Given the description of an element on the screen output the (x, y) to click on. 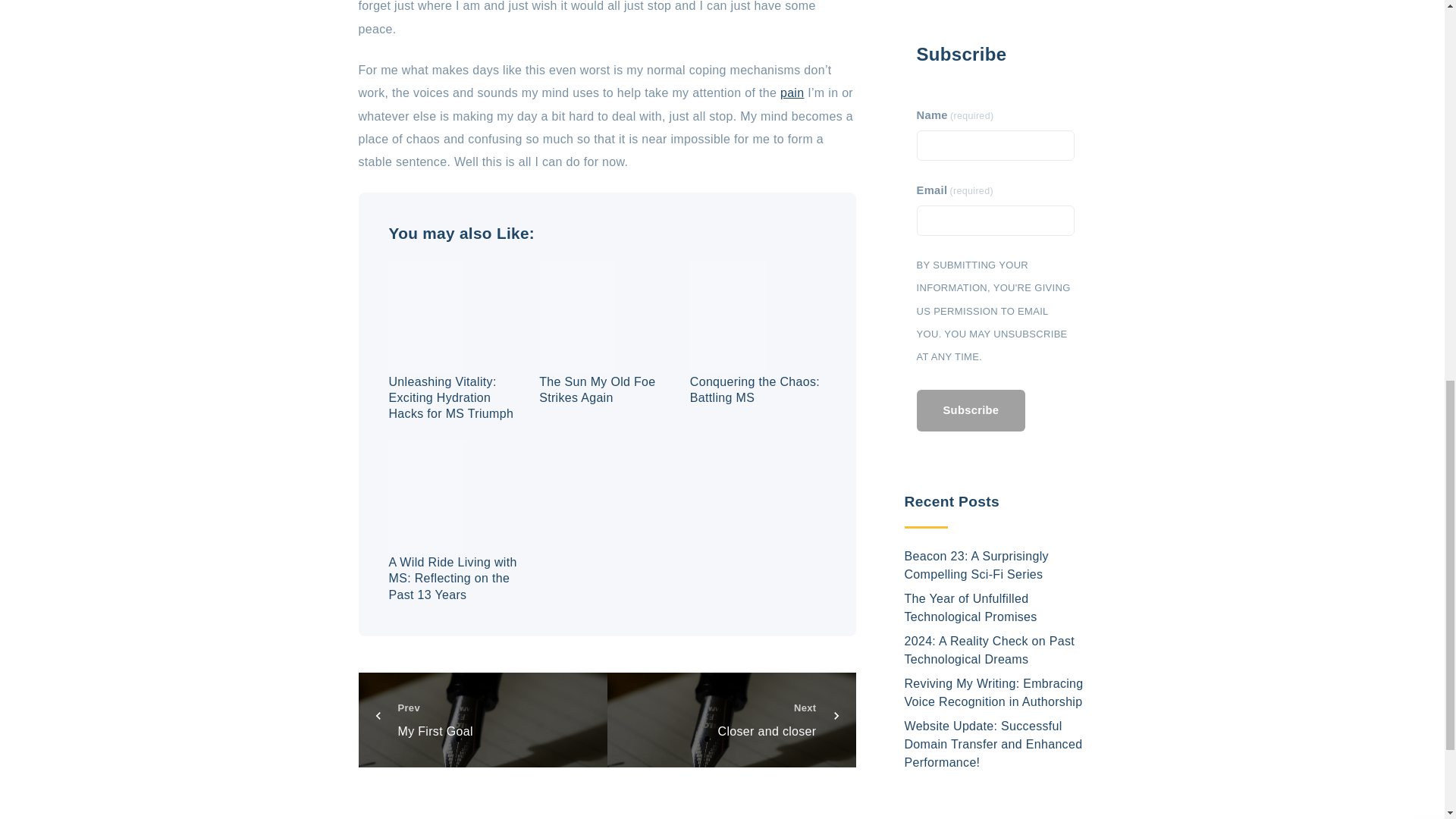
pain (792, 92)
Unleashing Vitality: Exciting Hydration Hacks for MS Triumph (450, 397)
The Year of Unfulfilled Technological Promises (970, 245)
Subscribe (731, 719)
Beacon 23: A Surprisingly Compelling Sci-Fi Series (970, 47)
pain (482, 719)
Conquering the Chaos: Battling MS (976, 202)
A Wild Ride Living with MS: Reflecting on the Past 13 Years (792, 92)
The Sun My Old Foe Strikes Again (754, 389)
